Given the description of an element on the screen output the (x, y) to click on. 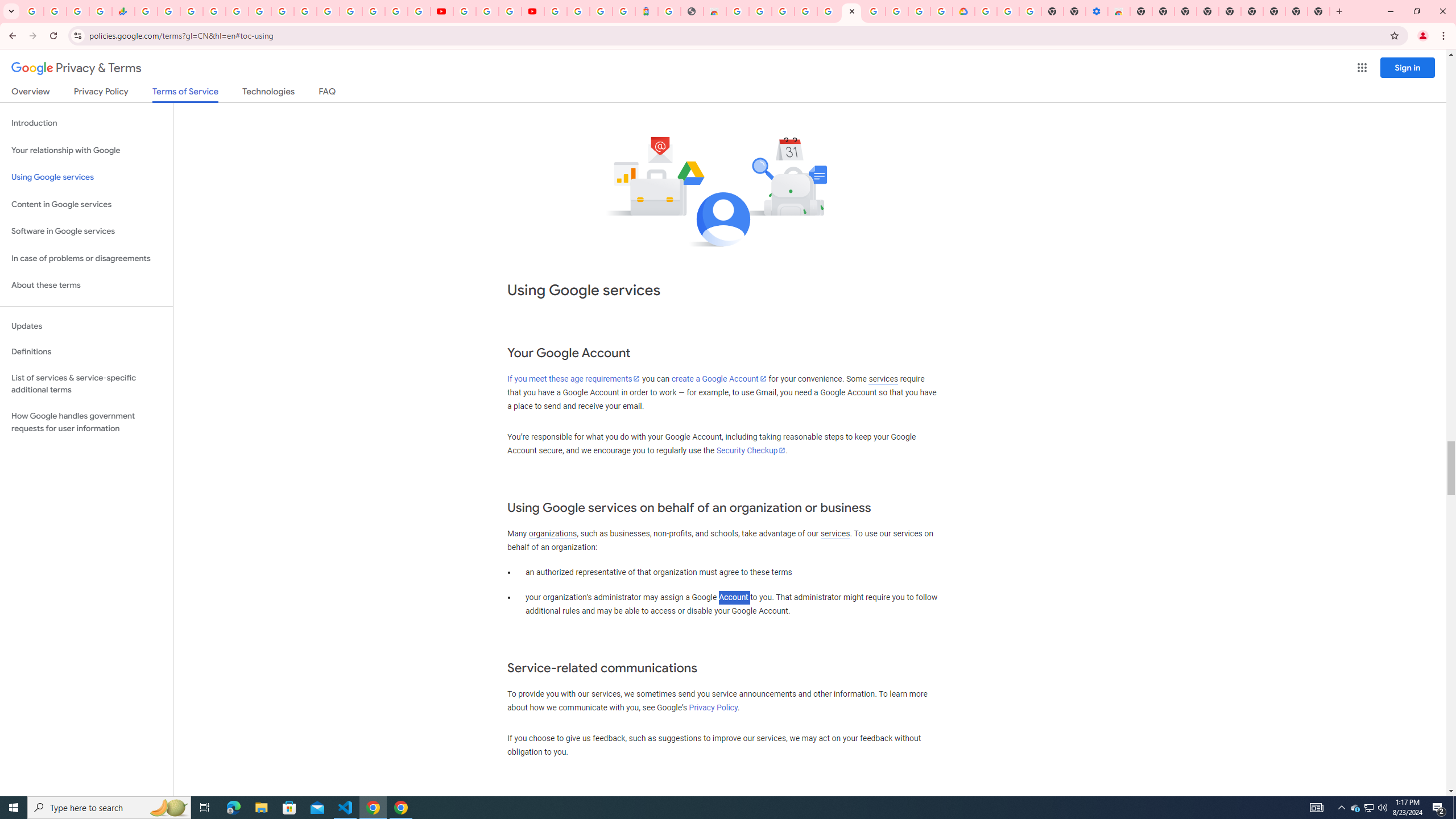
How Google handles government requests for user information (86, 422)
Your relationship with Google (86, 150)
Sign in - Google Accounts (985, 11)
Turn cookies on or off - Computer - Google Account Help (1029, 11)
FAQ (327, 93)
Settings - Accessibility (1096, 11)
Updates (86, 325)
organizations (552, 533)
